Given the description of an element on the screen output the (x, y) to click on. 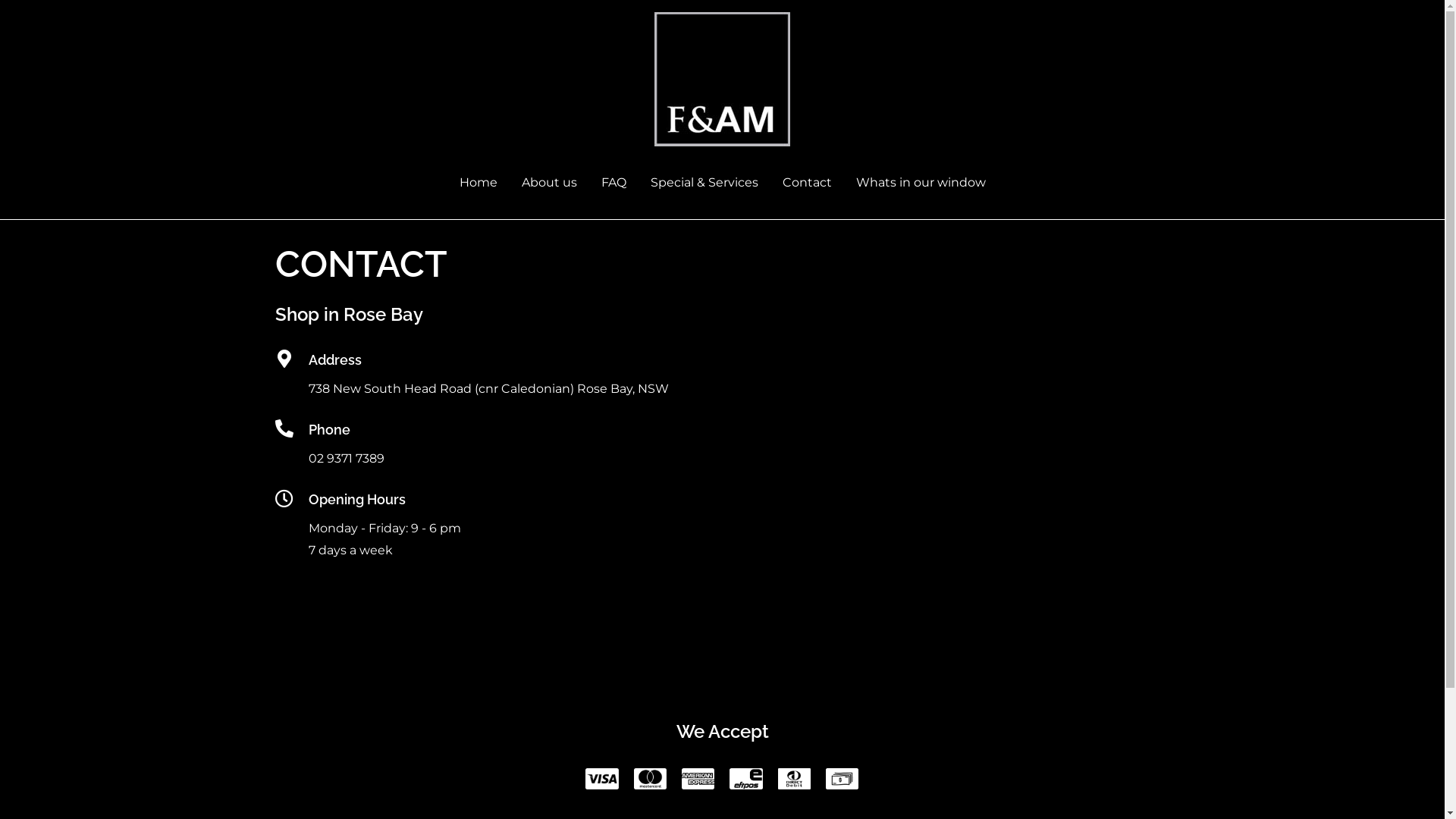
Home Element type: text (478, 182)
Whats in our window Element type: text (920, 182)
Contact Element type: text (807, 182)
FAQ Element type: text (612, 182)
About us Element type: text (549, 182)
Special & Services Element type: text (704, 182)
